Given the description of an element on the screen output the (x, y) to click on. 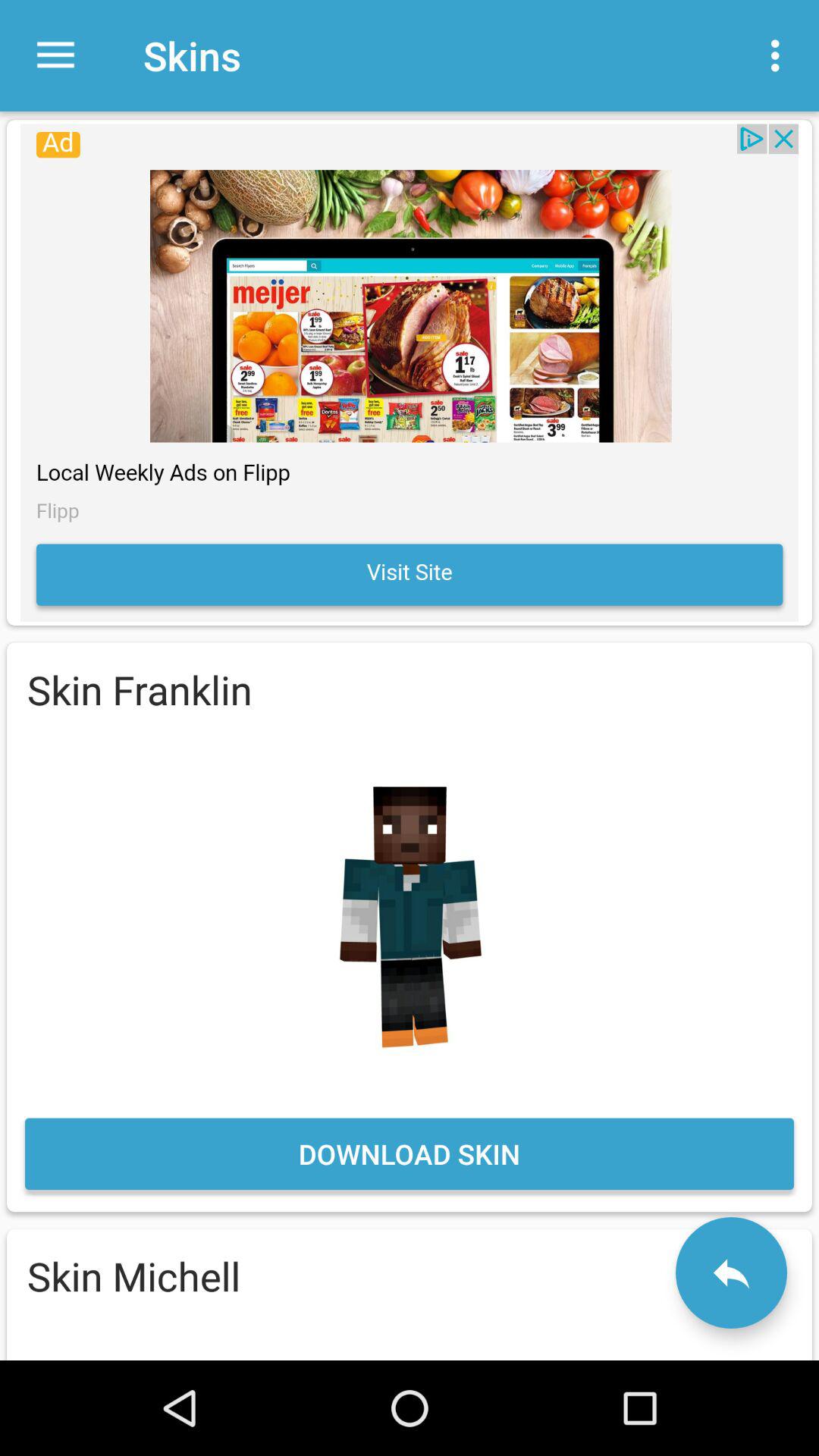
add page (409, 372)
